Given the description of an element on the screen output the (x, y) to click on. 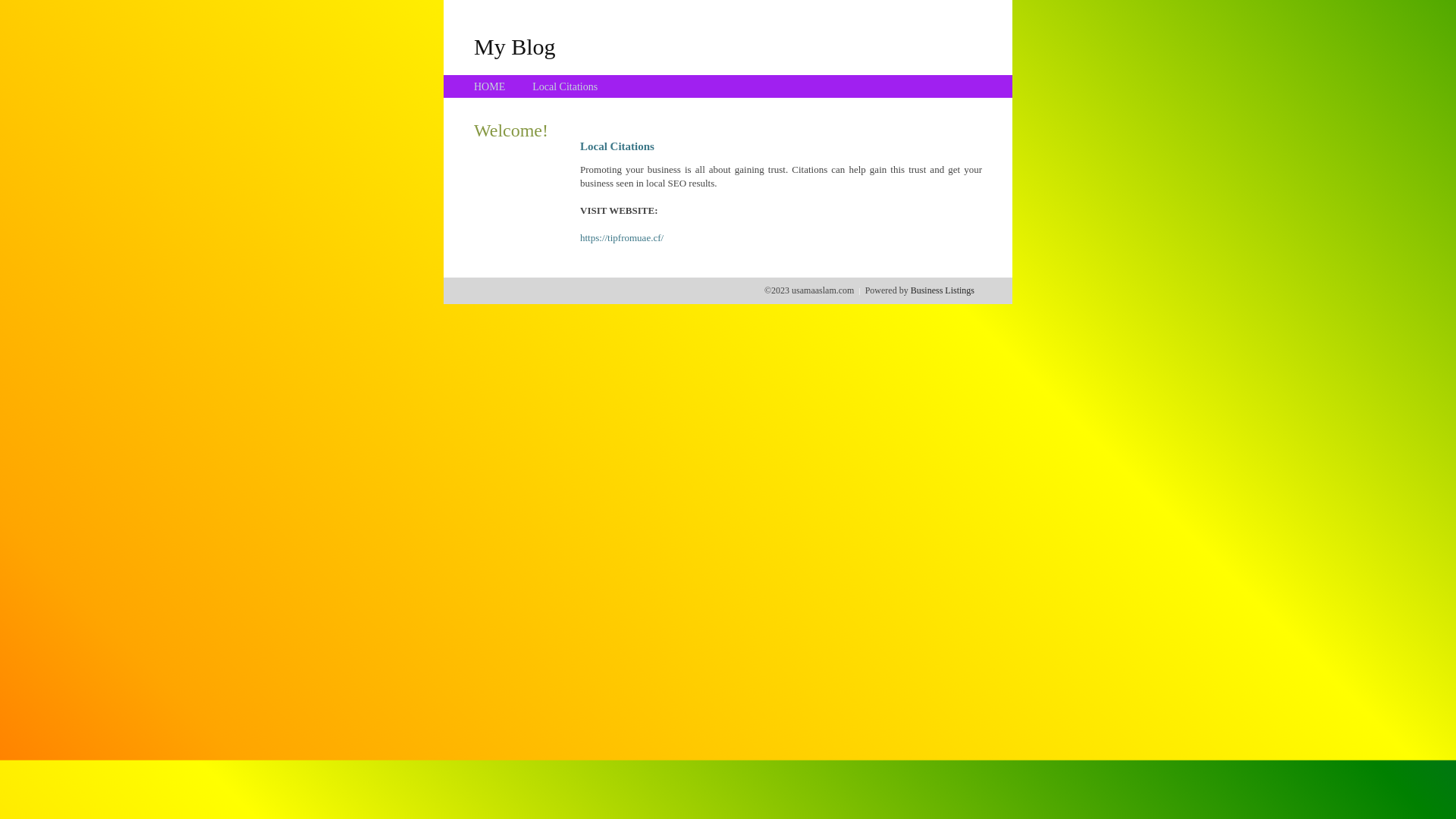
https://tipfromuae.cf/ Element type: text (621, 237)
My Blog Element type: text (514, 46)
Local Citations Element type: text (564, 86)
HOME Element type: text (489, 86)
Business Listings Element type: text (942, 290)
